Given the description of an element on the screen output the (x, y) to click on. 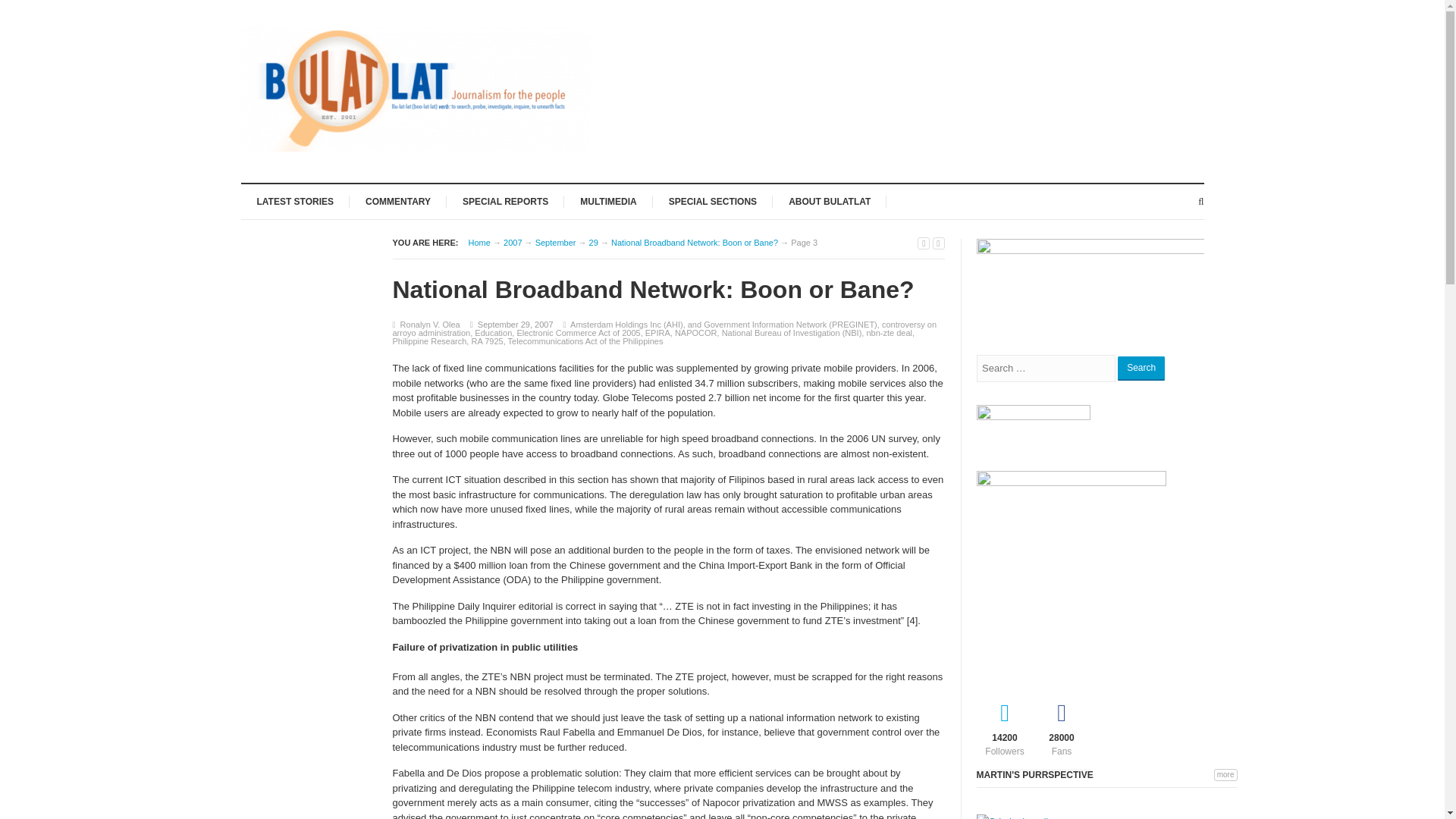
COMMENTARY (397, 200)
MULTIMEDIA (608, 200)
LATEST STORIES (296, 200)
Facebook (1060, 726)
Saturday, September 29, 2007, 2:51 pm (515, 324)
Bulatlat (479, 242)
SPECIAL SECTIONS (713, 200)
SPECIAL REPORTS (505, 200)
Twitter (1004, 726)
National Broadband Network: Boon or Bane? (694, 242)
